Given the description of an element on the screen output the (x, y) to click on. 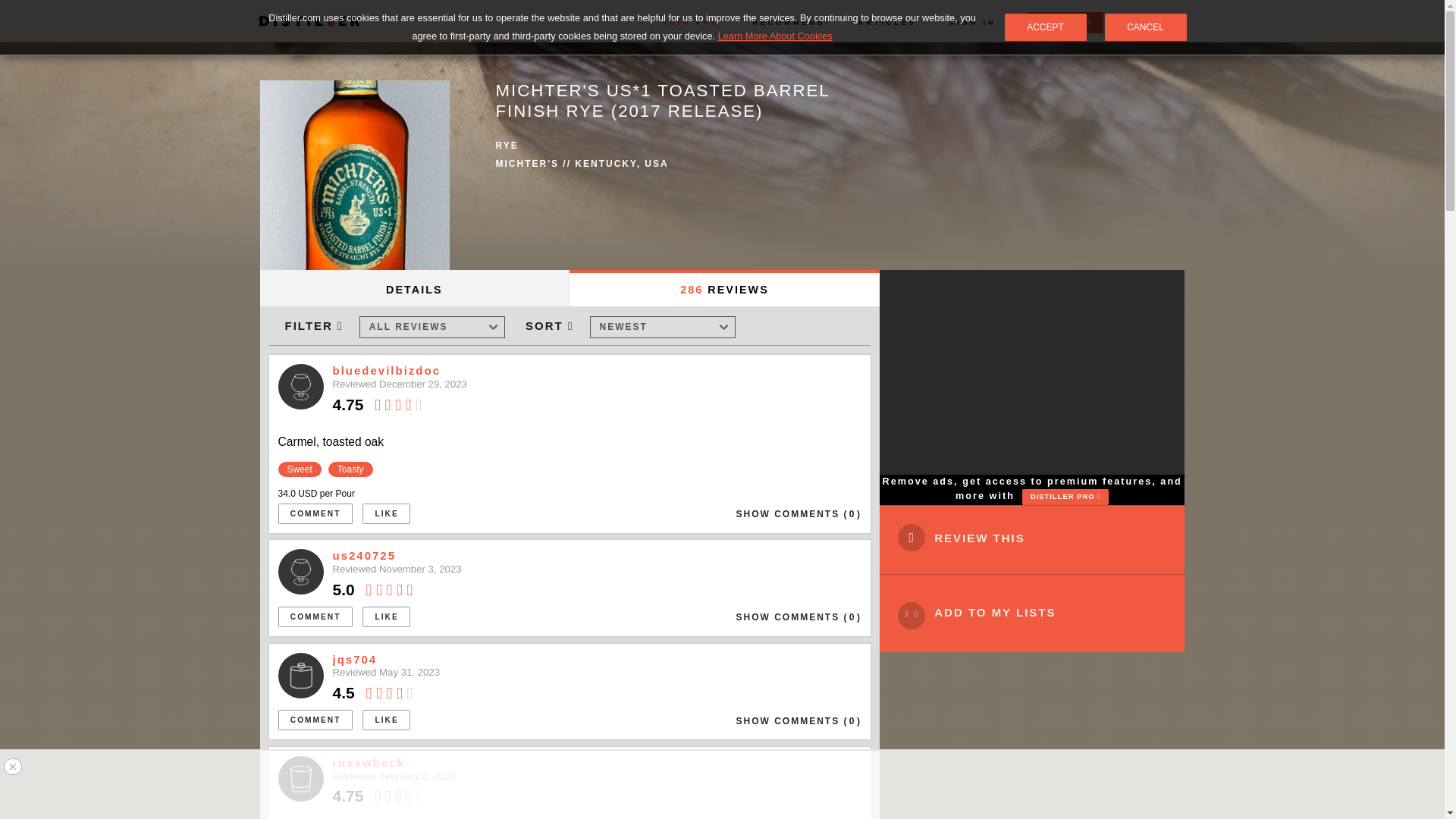
JOIN PRO (684, 22)
CANCEL (1144, 26)
ARTICLES (887, 22)
RECOMMEND (789, 22)
Learn More About Cookies (774, 35)
SIGN IN (972, 22)
ACCEPT (1045, 26)
REGISTER (1065, 22)
